Given the description of an element on the screen output the (x, y) to click on. 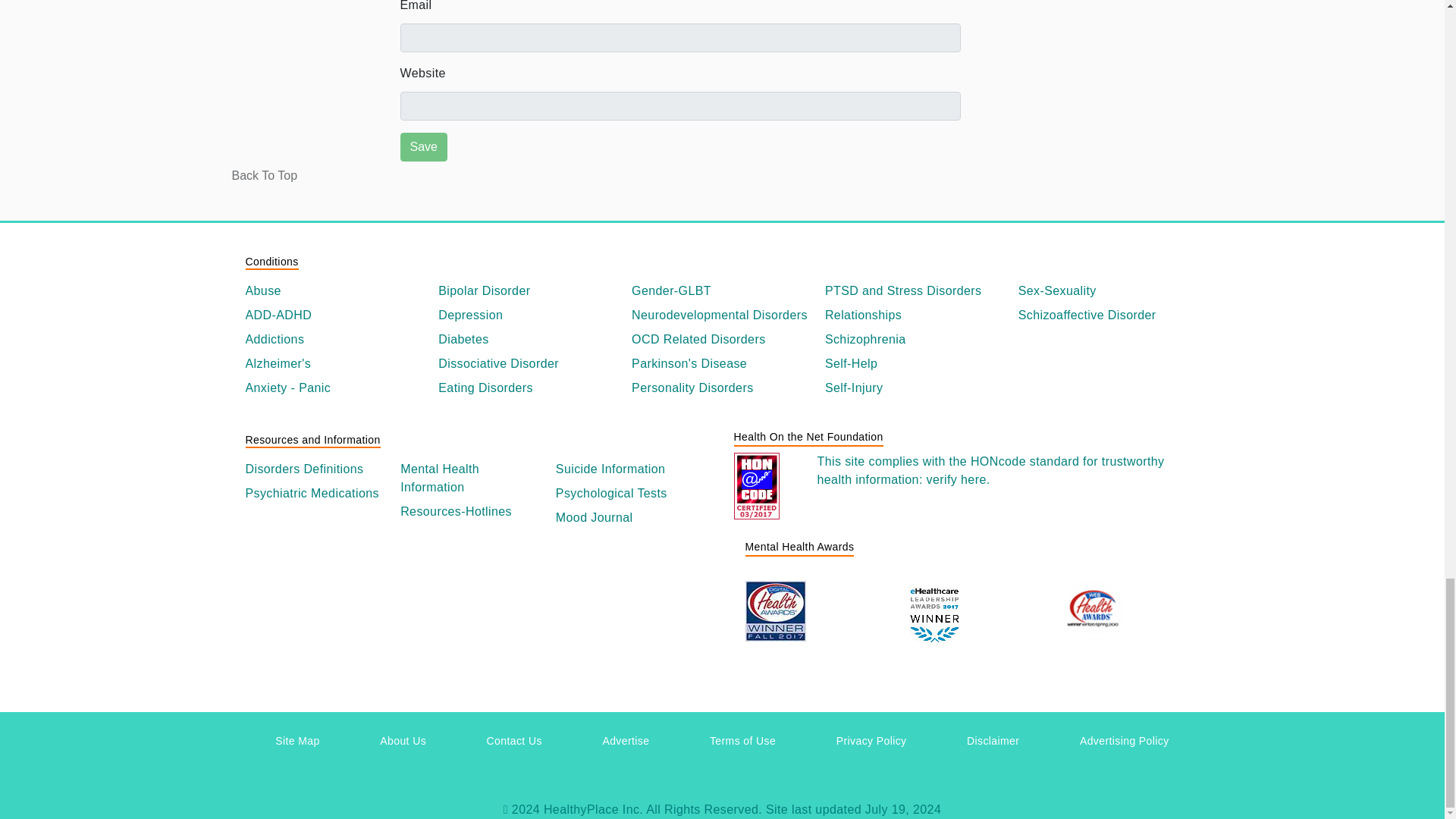
Parkinson's Disease Information Articles (721, 363)
